Given the description of an element on the screen output the (x, y) to click on. 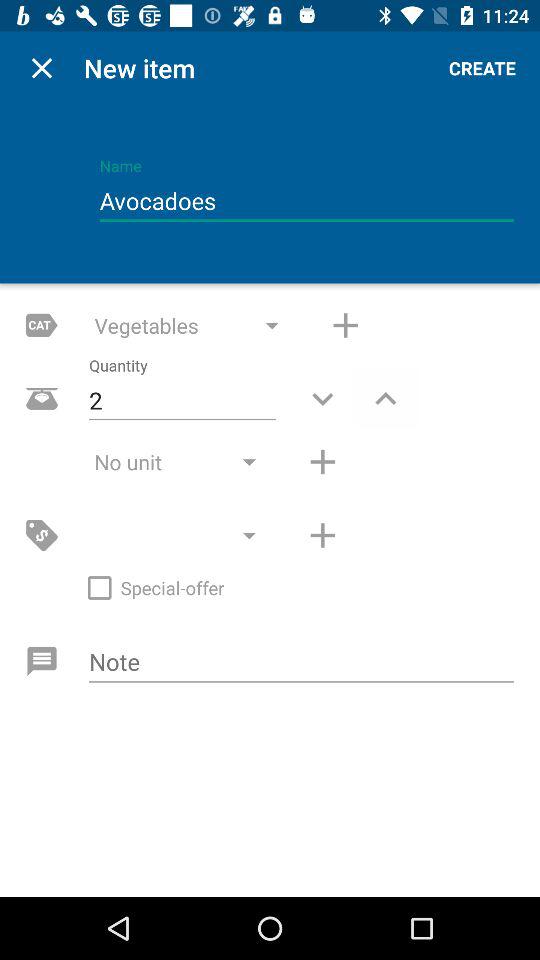
close (42, 68)
